Given the description of an element on the screen output the (x, y) to click on. 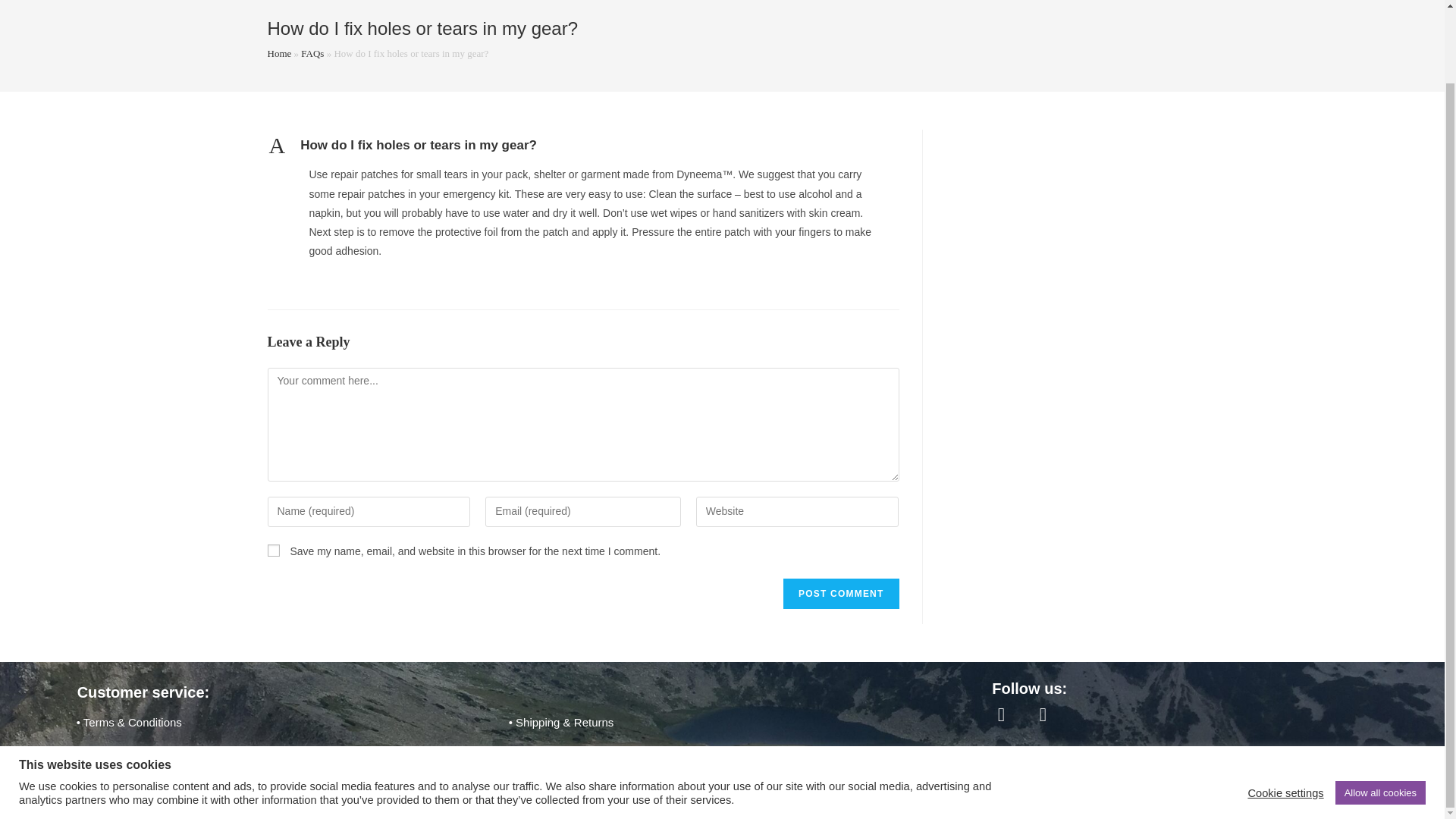
yes (272, 550)
Post Comment (840, 593)
